Given the description of an element on the screen output the (x, y) to click on. 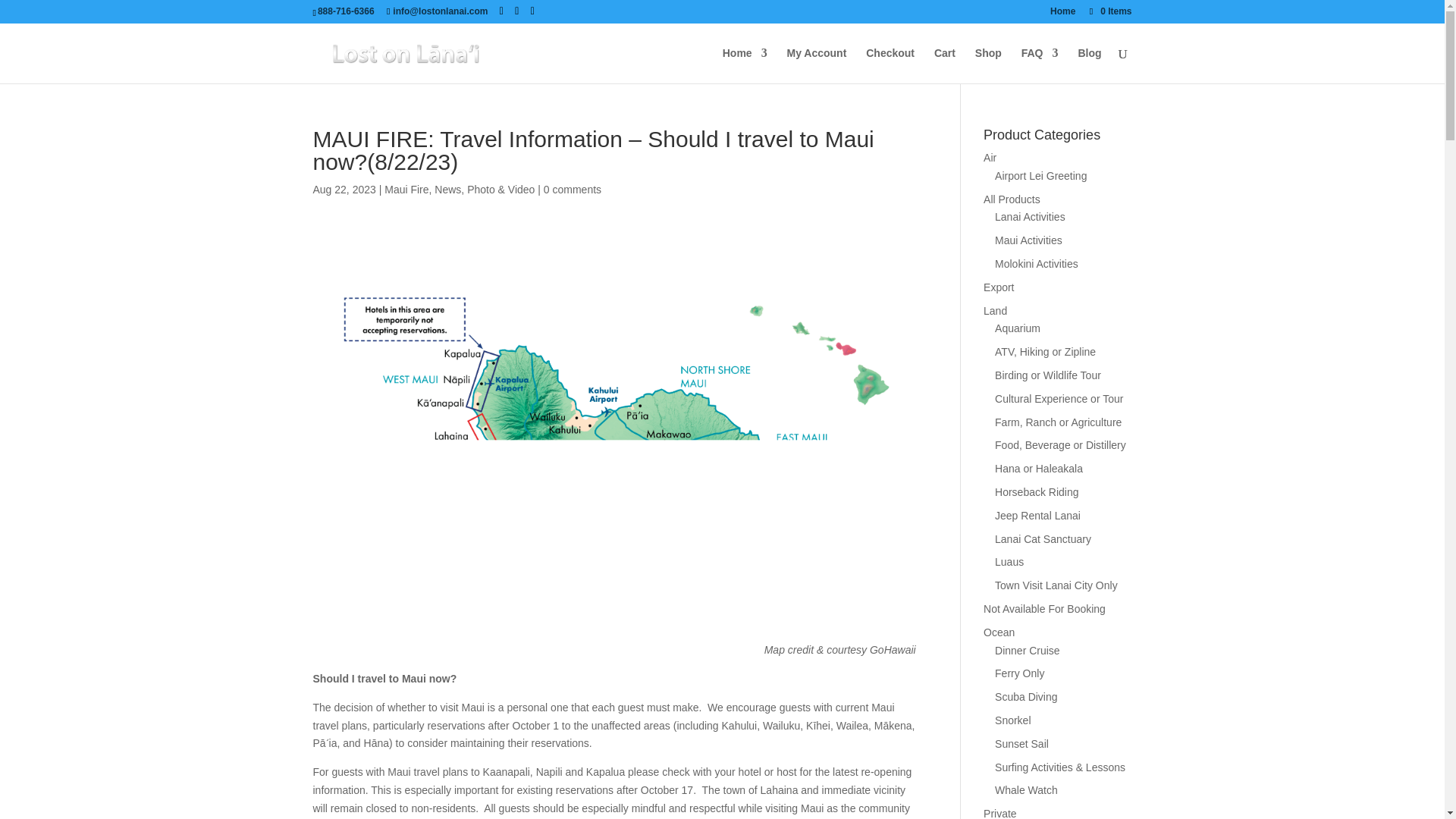
FAQ (1040, 65)
Maui Fire (406, 189)
Checkout (890, 65)
Home (1062, 14)
Home (744, 65)
My Account (817, 65)
0 comments (572, 189)
0 Items (1108, 10)
